Given the description of an element on the screen output the (x, y) to click on. 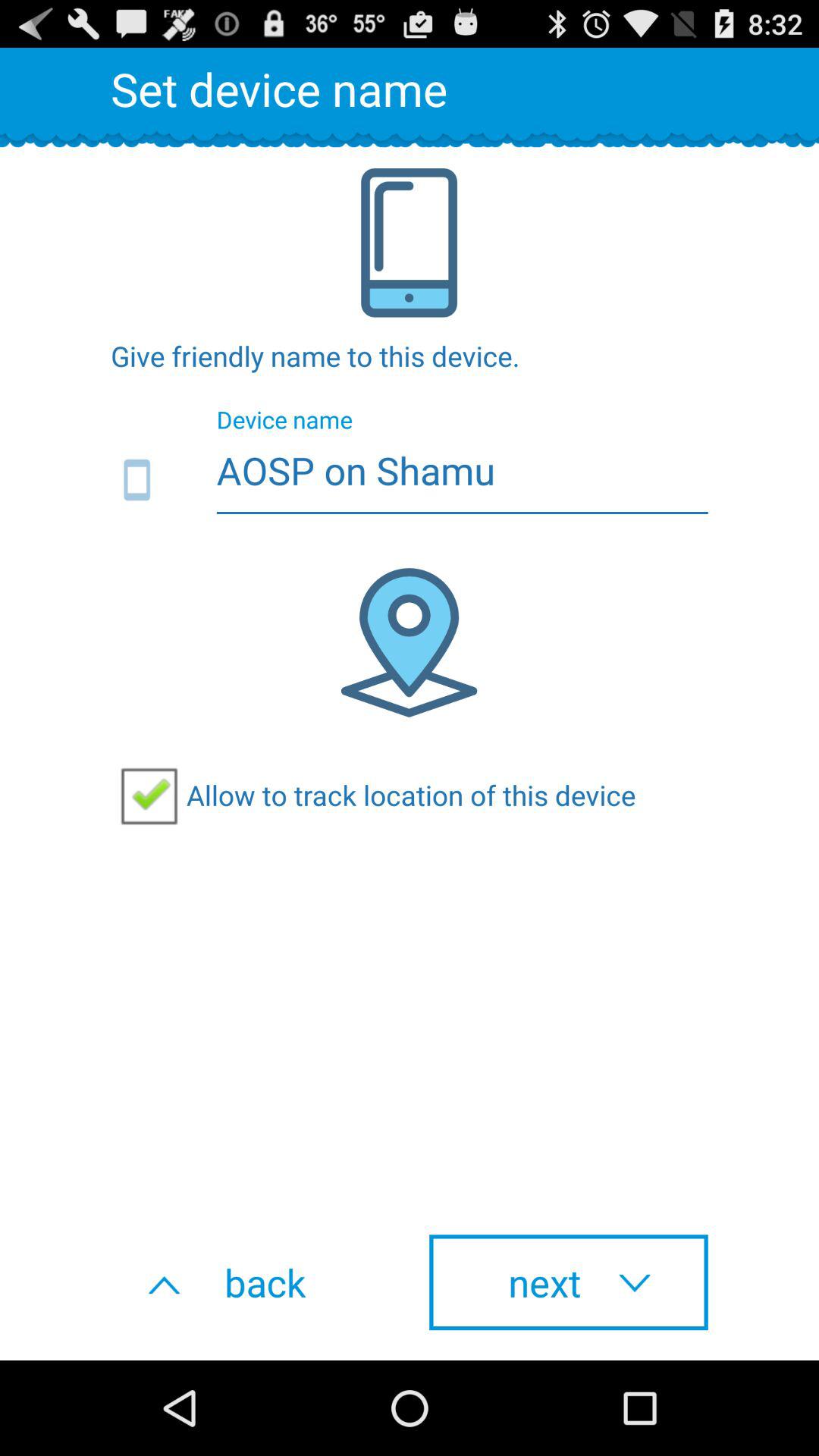
jump until next button (568, 1282)
